Given the description of an element on the screen output the (x, y) to click on. 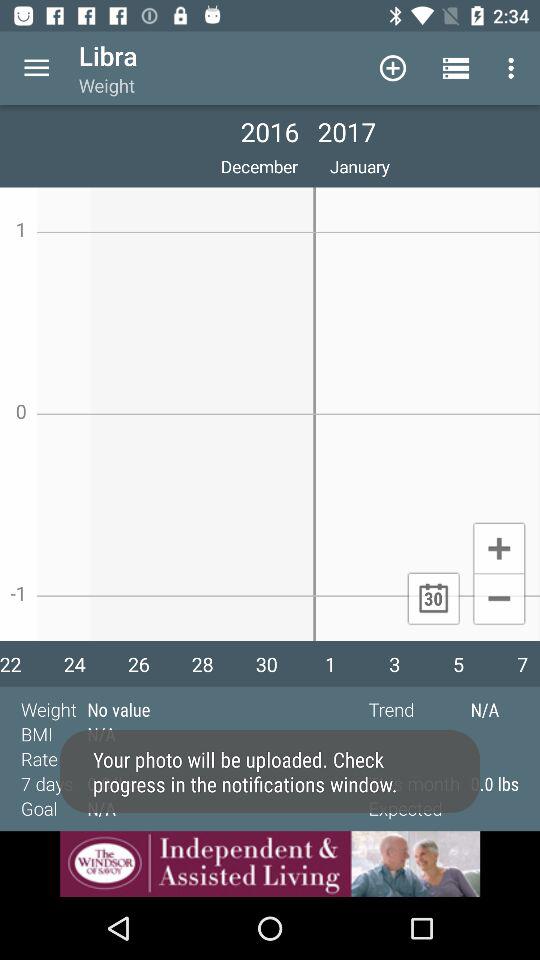
click the advertisement at bottom (270, 864)
